Given the description of an element on the screen output the (x, y) to click on. 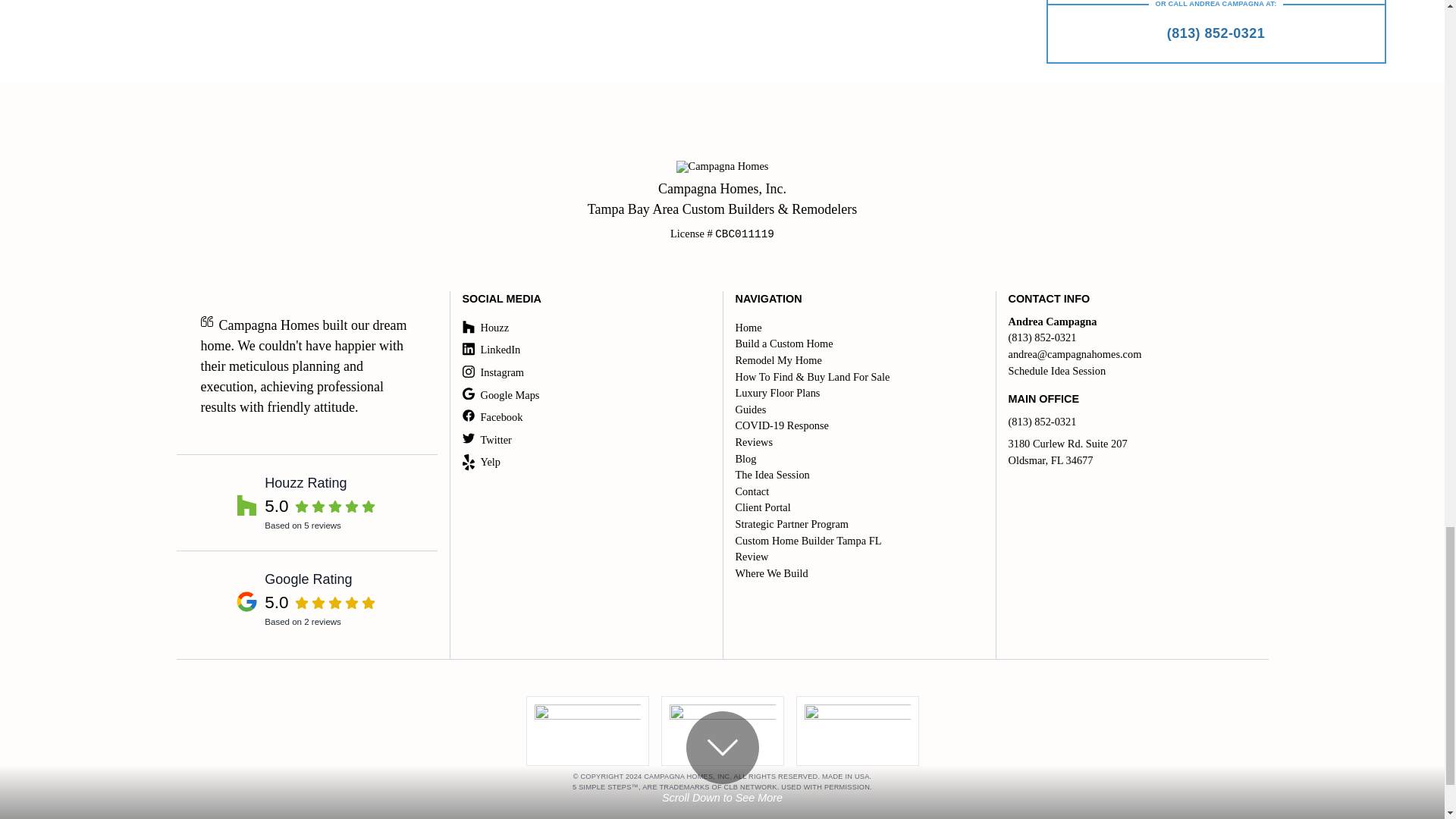
Facebook (583, 417)
LinkedIn (583, 350)
Open in Google Maps (1132, 451)
Campagna Homes in Tampa Bay Area (722, 199)
Home (306, 598)
Houzz (855, 328)
Google Maps (583, 328)
Yelp (583, 395)
Twitter (583, 462)
